Given the description of an element on the screen output the (x, y) to click on. 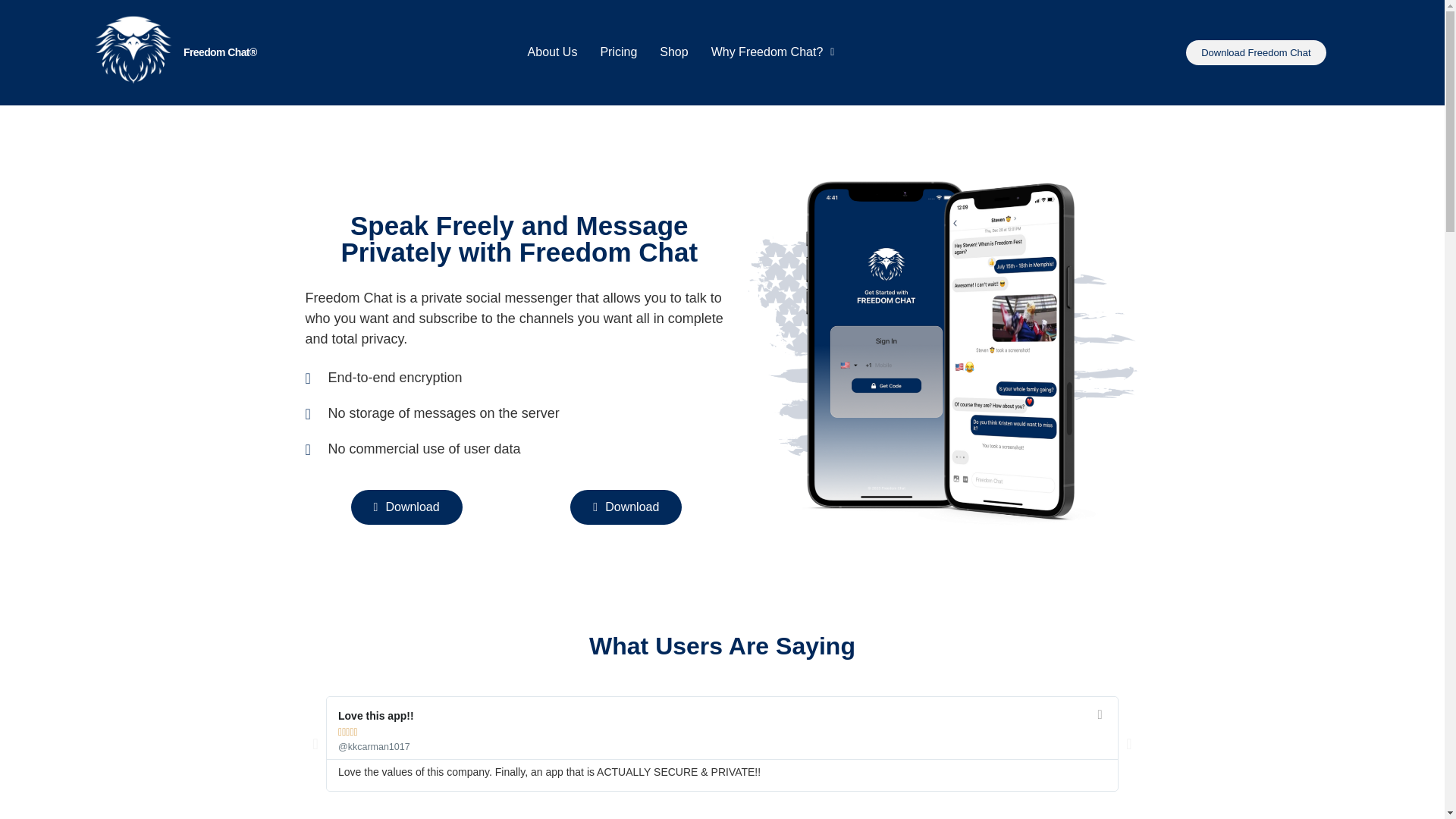
Download Freedom Chat (1256, 52)
Download (625, 506)
Pricing (617, 52)
Download (406, 506)
About Us (552, 52)
Shop (672, 52)
Why Freedom Chat? (772, 52)
